Given the description of an element on the screen output the (x, y) to click on. 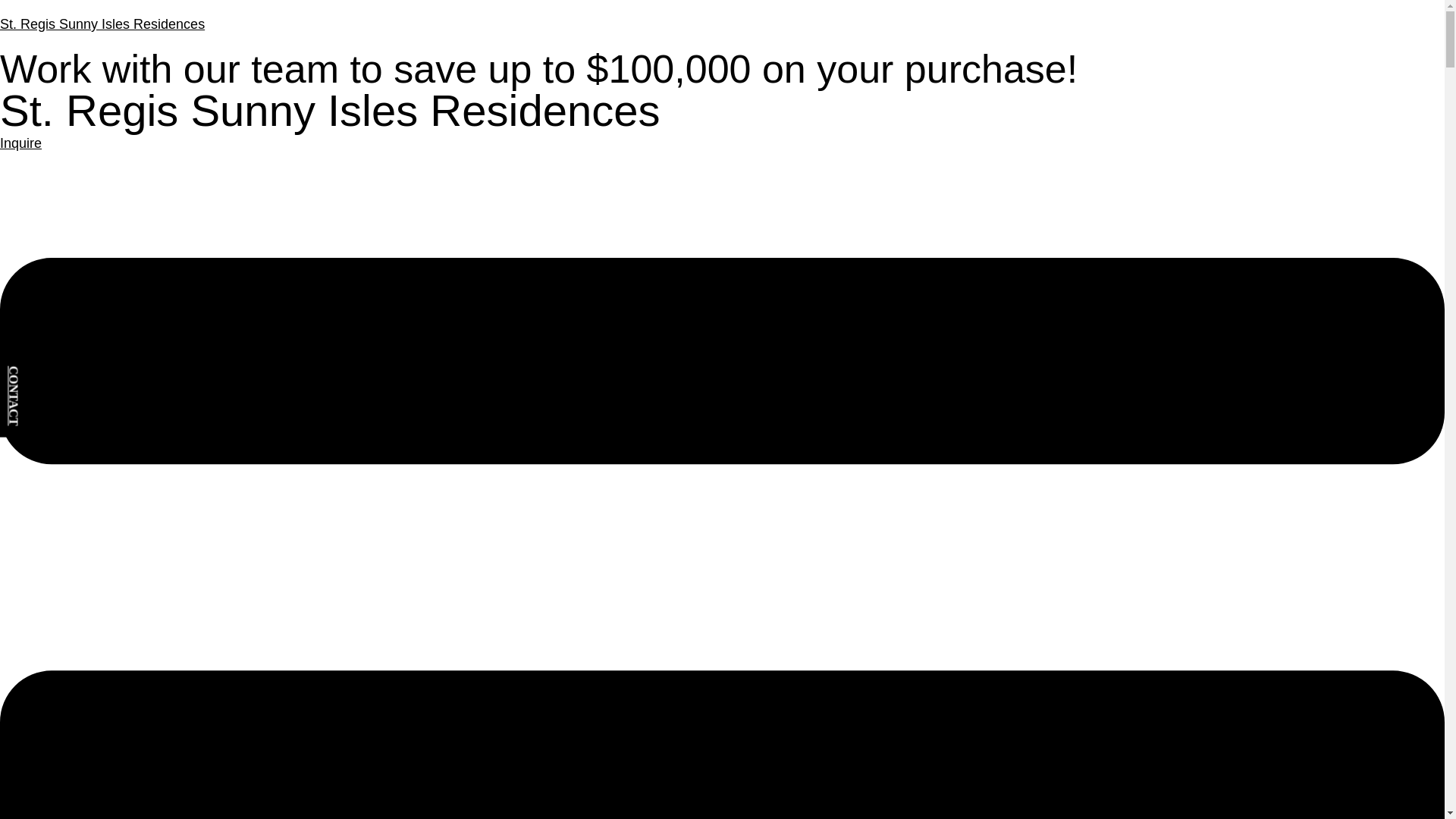
Inquire Element type: text (20, 142)
St. Regis Sunny Isles Residences Element type: text (102, 23)
